Given the description of an element on the screen output the (x, y) to click on. 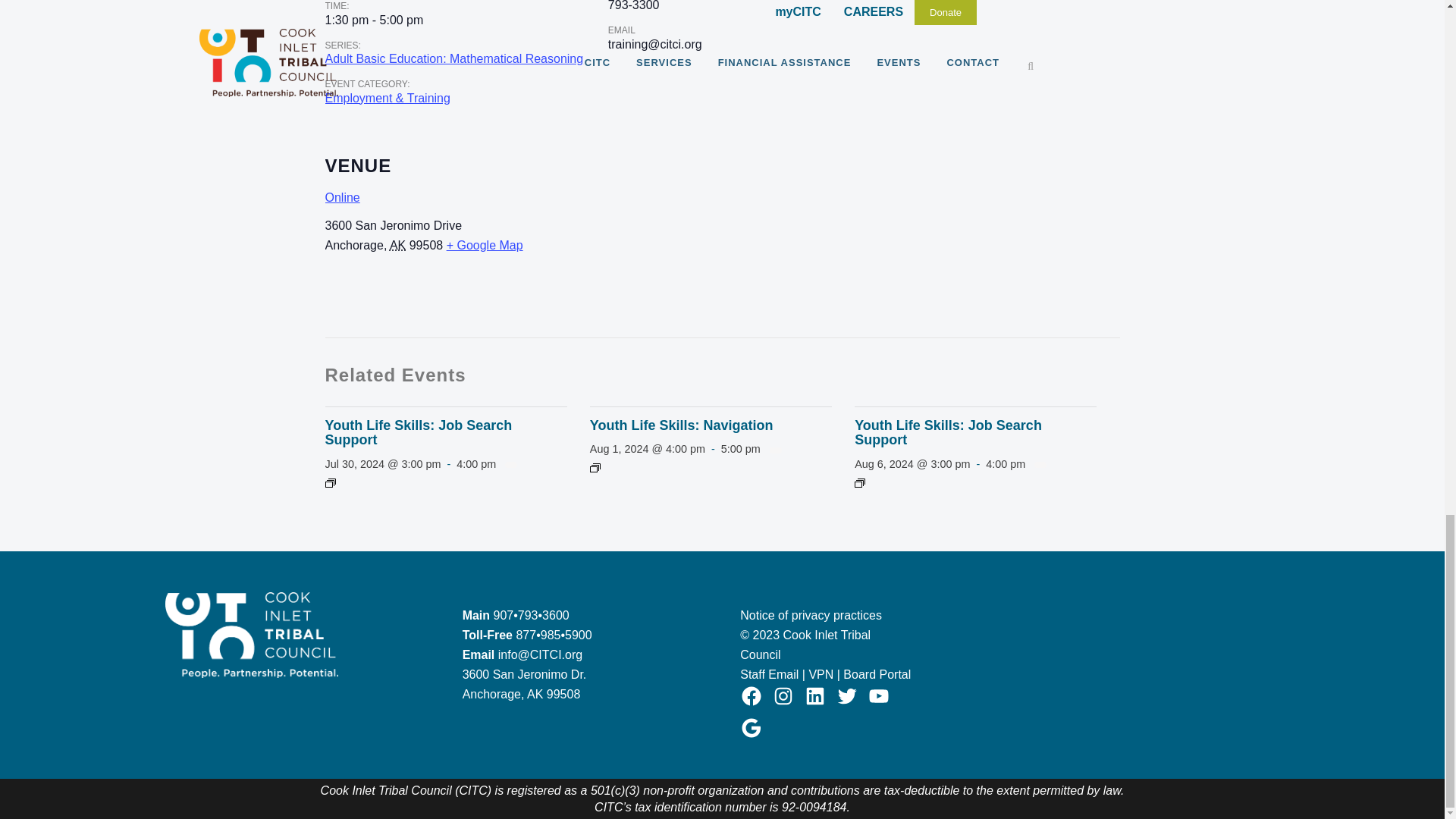
Alaska (398, 245)
Adult Basic Education: Mathematical Reasoning (453, 58)
2022-06-07 (373, 20)
Google maps iframe displaying the address to Online (873, 232)
Click to view a Google Map (484, 245)
